Given the description of an element on the screen output the (x, y) to click on. 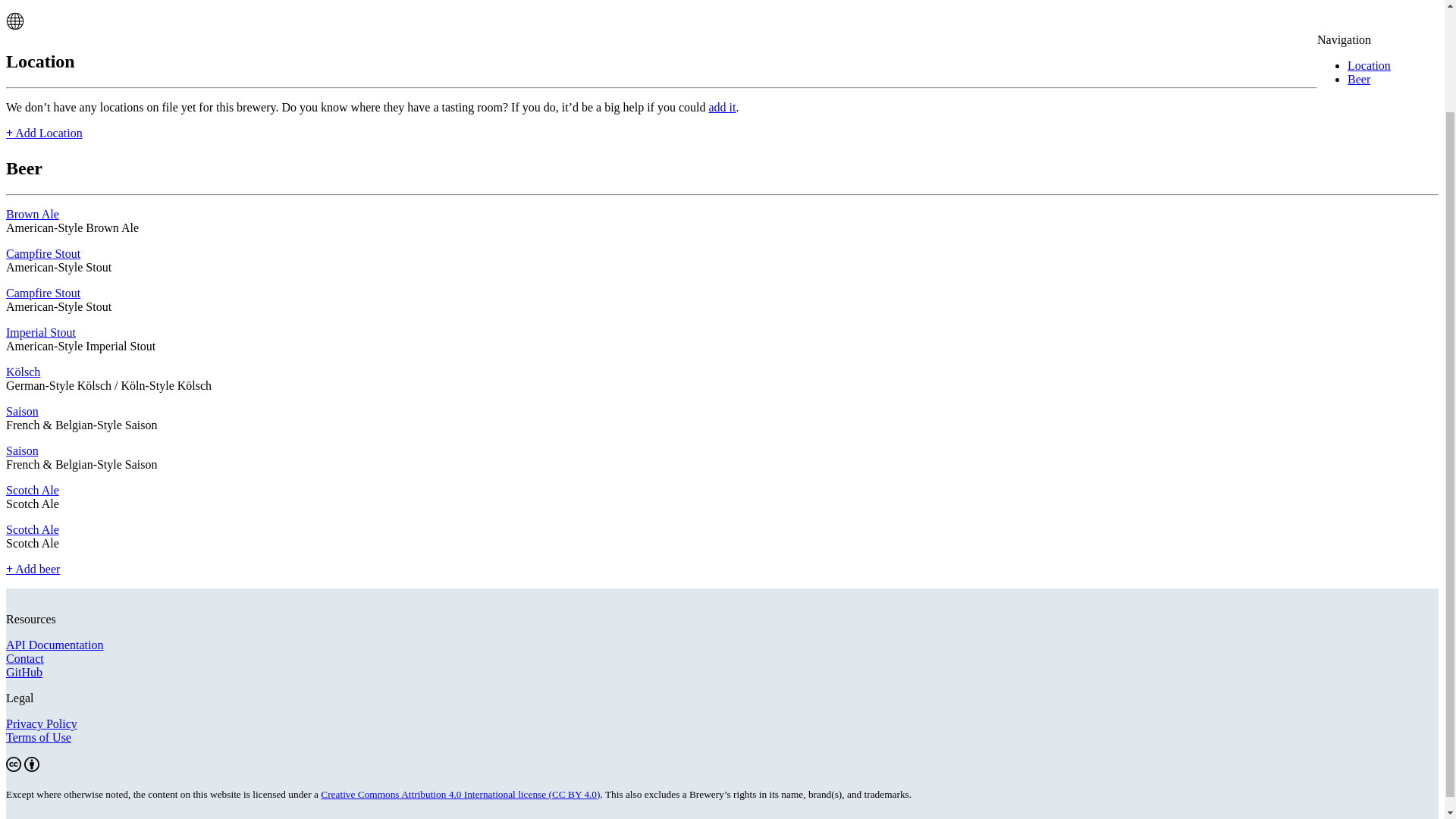
API Documentation (54, 644)
add it (721, 106)
Campfire Stout (42, 292)
Brown Ale (32, 214)
Beer (1359, 78)
Saison (22, 450)
GitHub (23, 671)
Contact (24, 658)
Campfire Stout (42, 253)
Saison (22, 410)
